Given the description of an element on the screen output the (x, y) to click on. 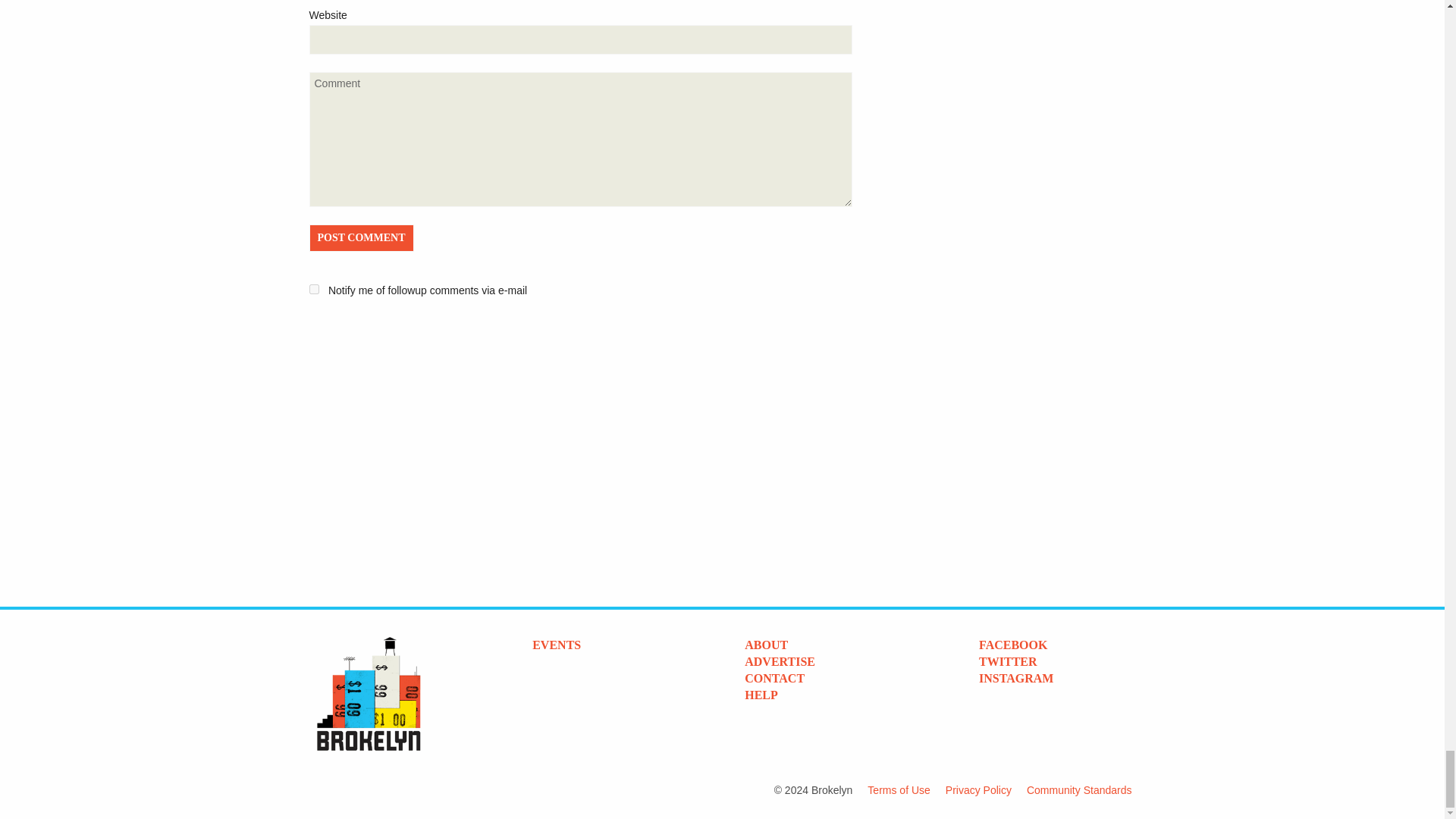
subscribe (313, 289)
Post Comment (360, 237)
